Given the description of an element on the screen output the (x, y) to click on. 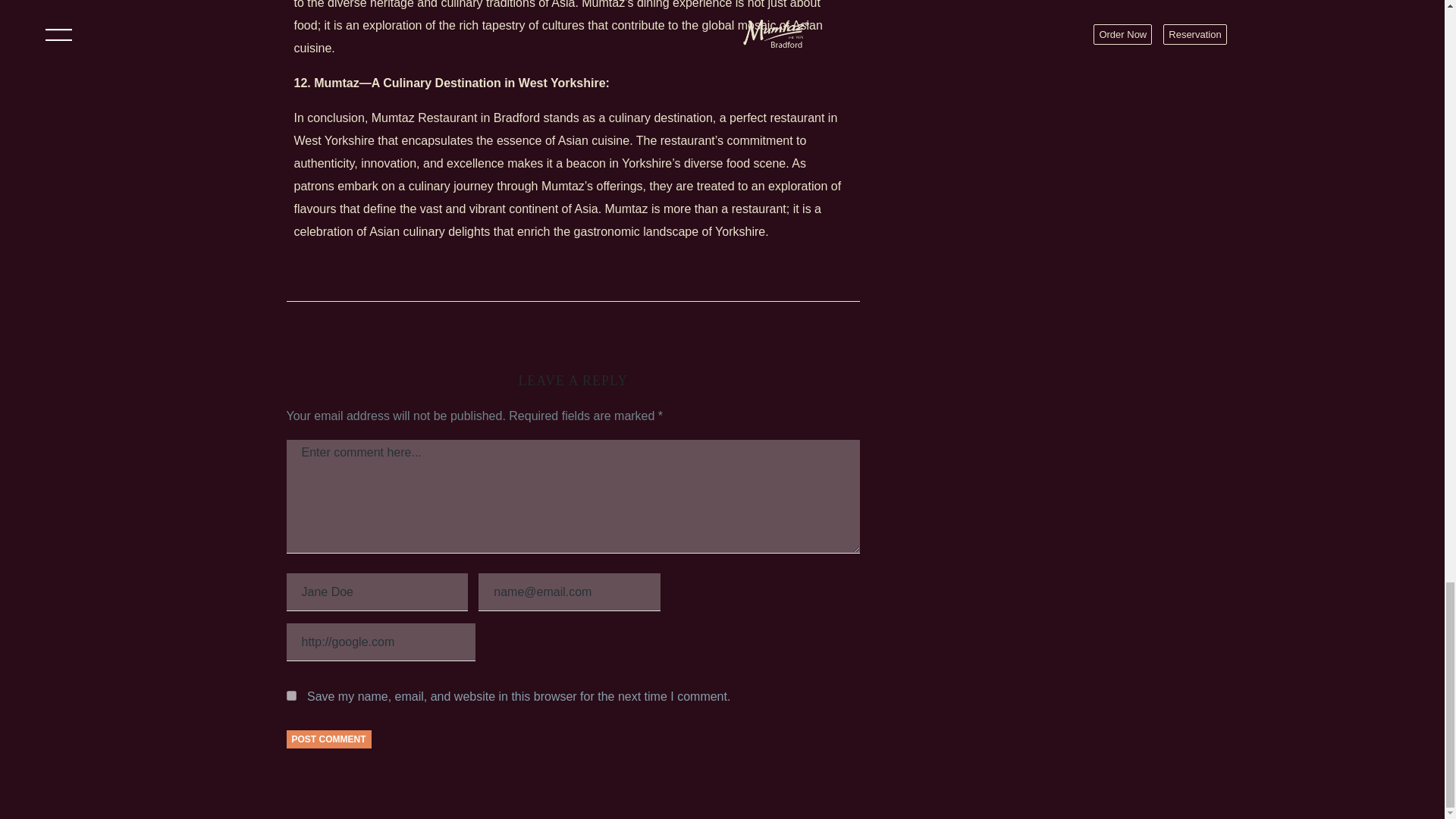
yes (291, 696)
Post Comment (328, 739)
Post Comment (328, 739)
